Given the description of an element on the screen output the (x, y) to click on. 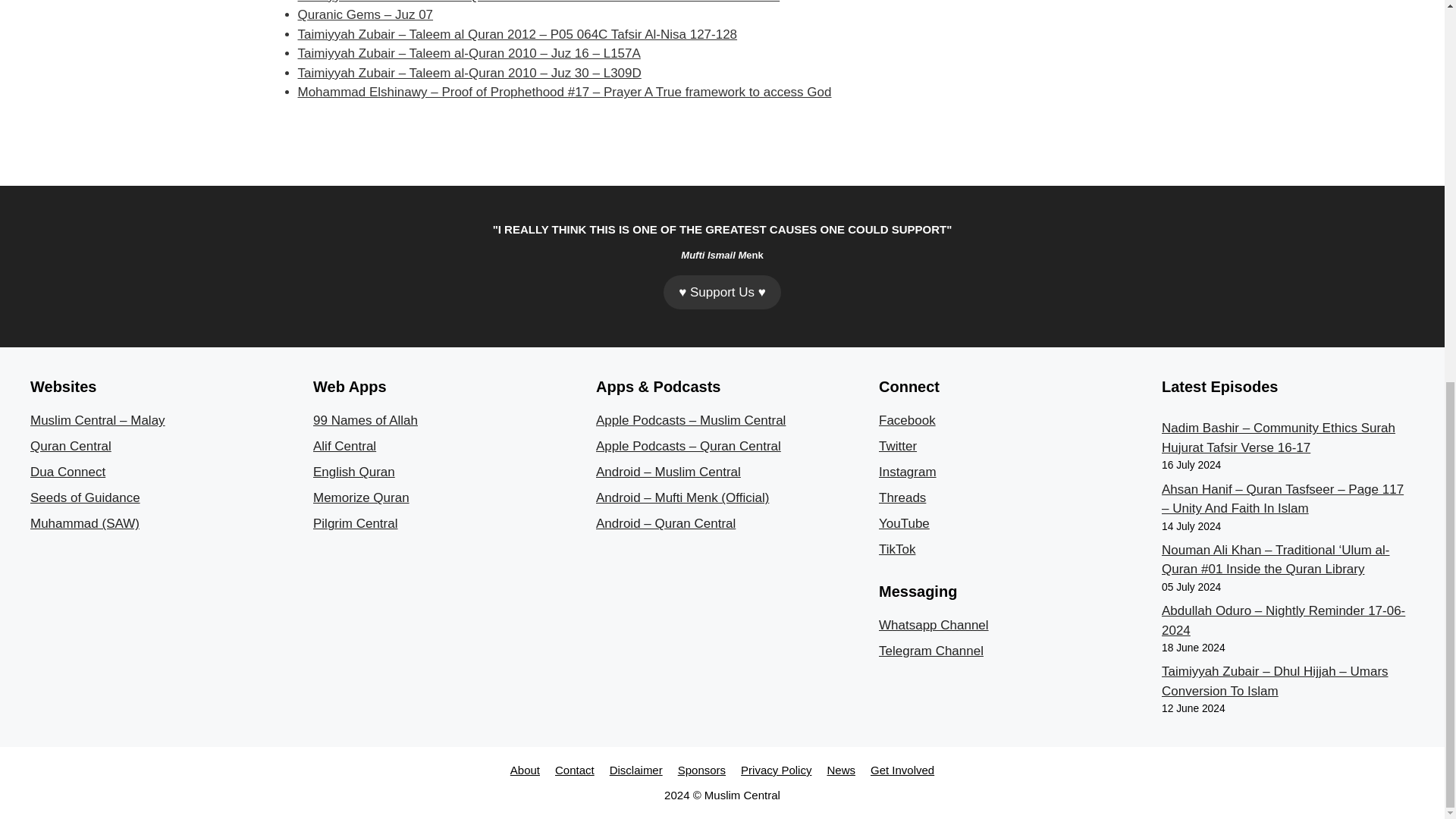
English Quran (353, 472)
99 Names of Allah (365, 420)
Quran Central (71, 445)
Dua Connect (67, 472)
Seeds of Guidance (84, 497)
Alif Central (344, 445)
Memorize Quran (361, 497)
